Given the description of an element on the screen output the (x, y) to click on. 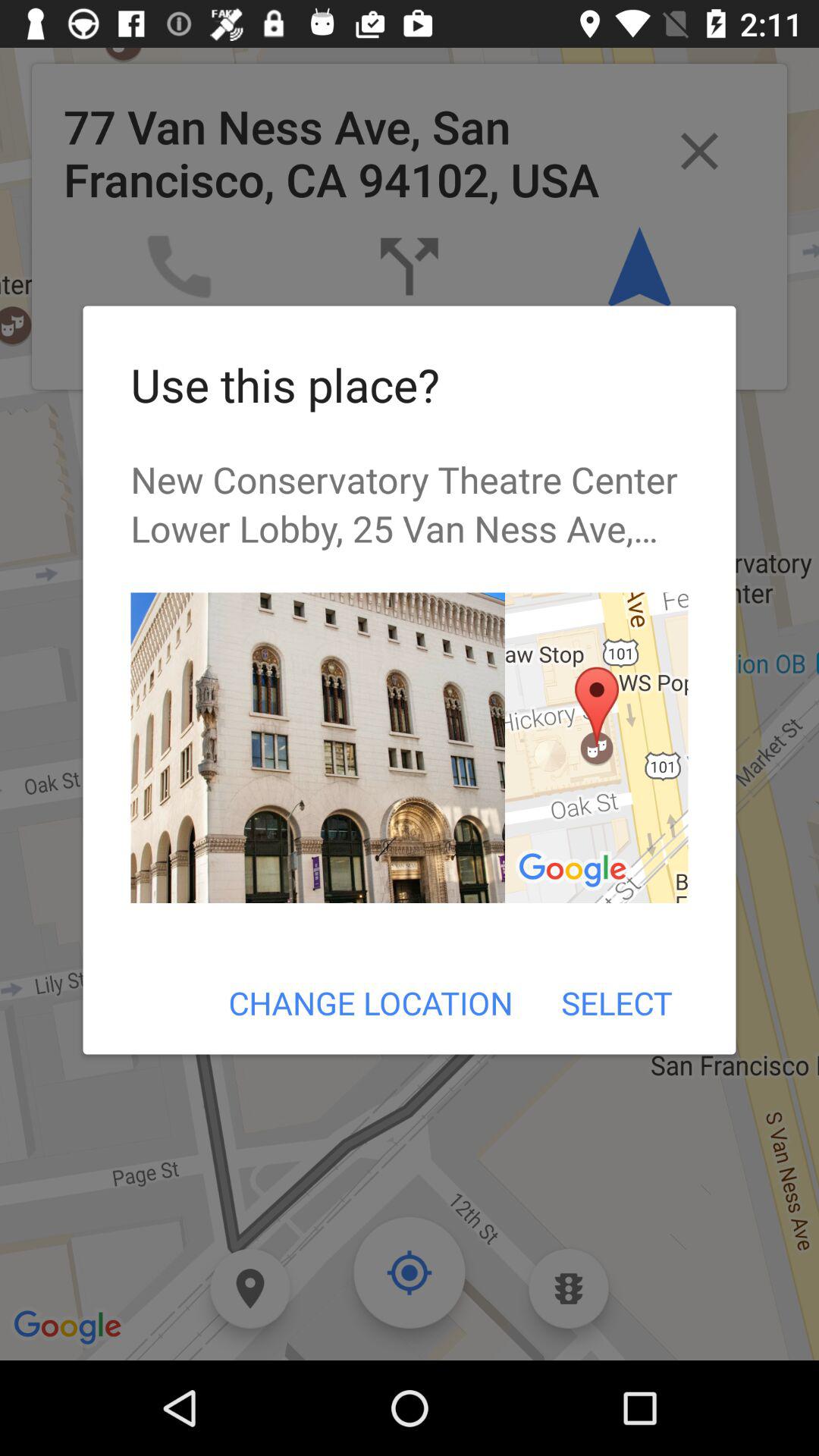
swipe until change location (370, 1002)
